Given the description of an element on the screen output the (x, y) to click on. 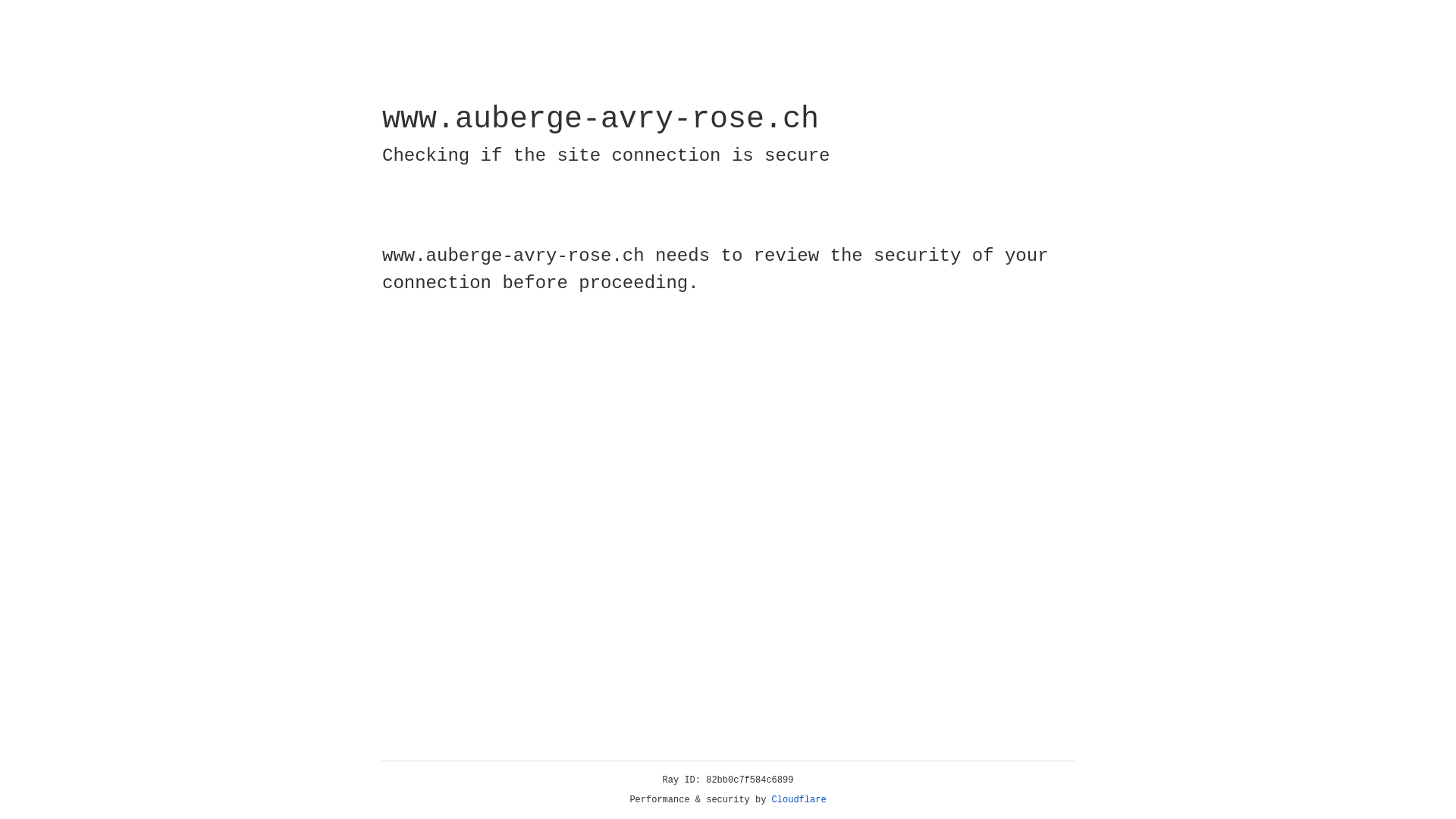
Cloudflare Element type: text (798, 799)
